Given the description of an element on the screen output the (x, y) to click on. 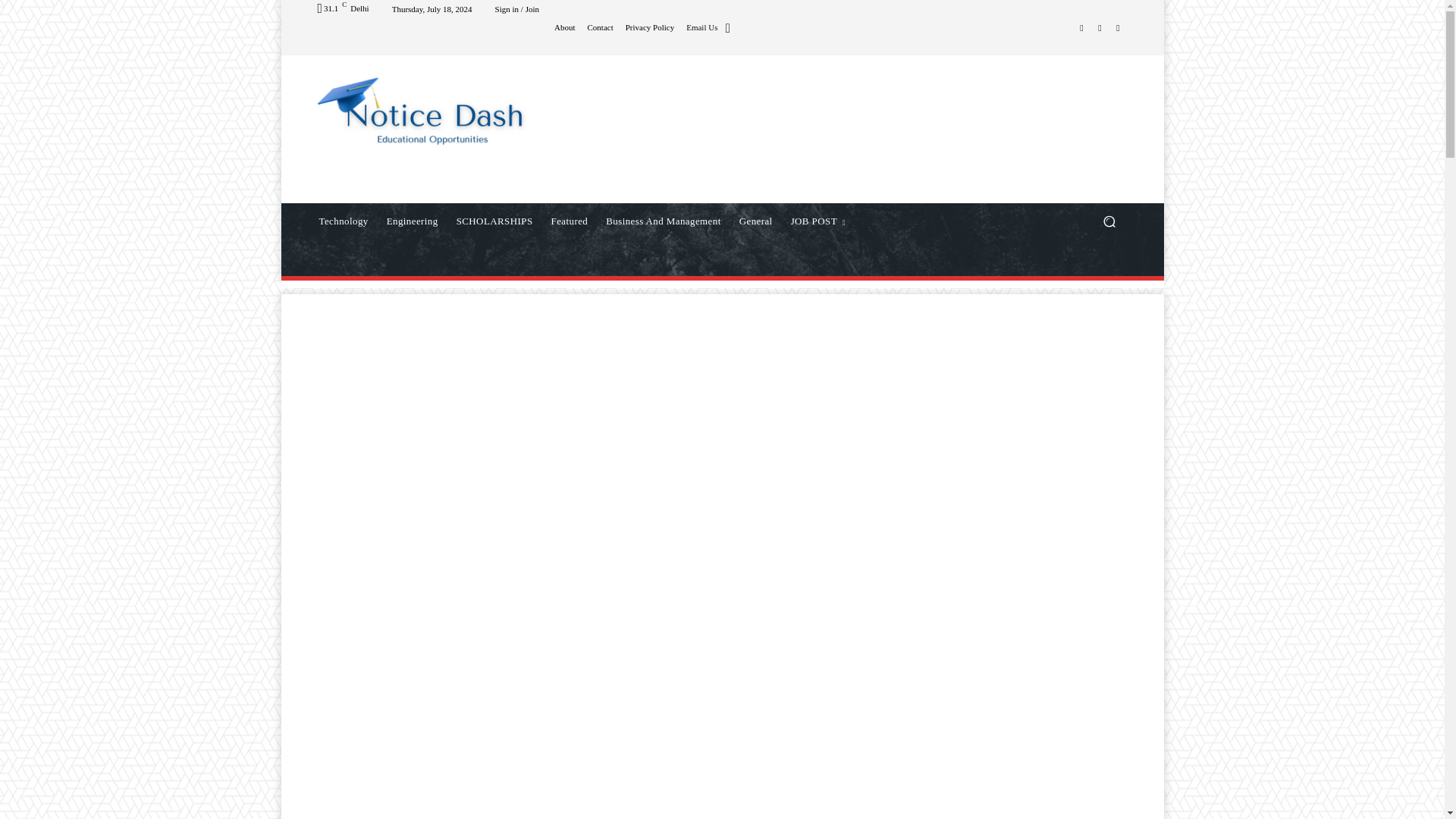
Instagram (1080, 27)
Technology (342, 221)
Business And Management (662, 221)
SCHOLARSHIPS (493, 221)
JOB POST (817, 221)
Featured (568, 221)
Twitter (1117, 27)
Advertisement (846, 128)
Privacy Policy (650, 27)
General (755, 221)
About (564, 27)
Engineering (411, 221)
Contact (599, 27)
Telegram (1099, 27)
